Given the description of an element on the screen output the (x, y) to click on. 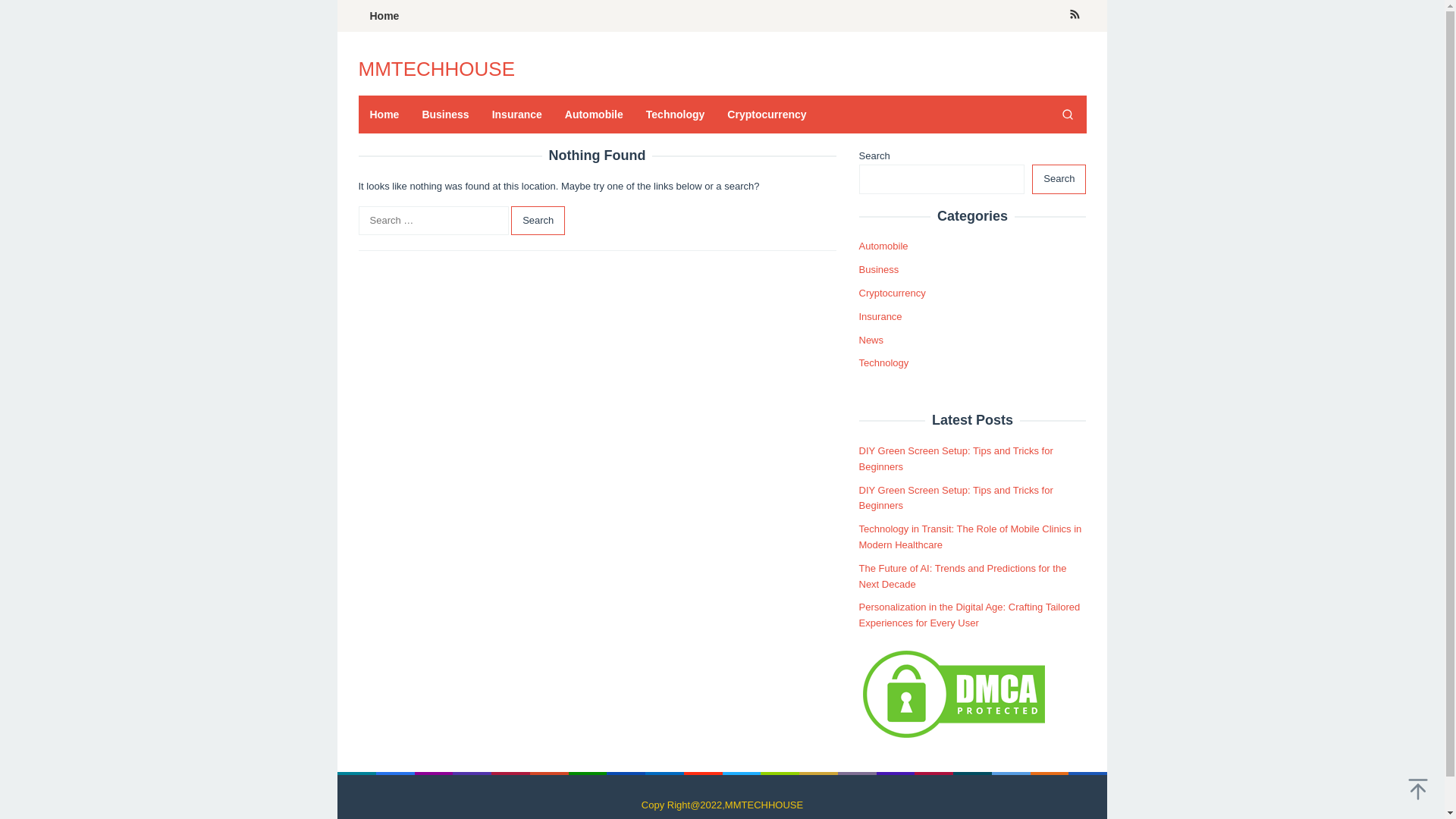
Business (878, 269)
MMTECHHOUSE (436, 68)
Home (384, 114)
Business (445, 114)
Automobile (883, 245)
DIY Green Screen Setup: Tips and Tricks for Beginners (955, 497)
Search (1059, 179)
News (871, 339)
Insurance (880, 316)
DIY Green Screen Setup: Tips and Tricks for Beginners (955, 458)
